Given the description of an element on the screen output the (x, y) to click on. 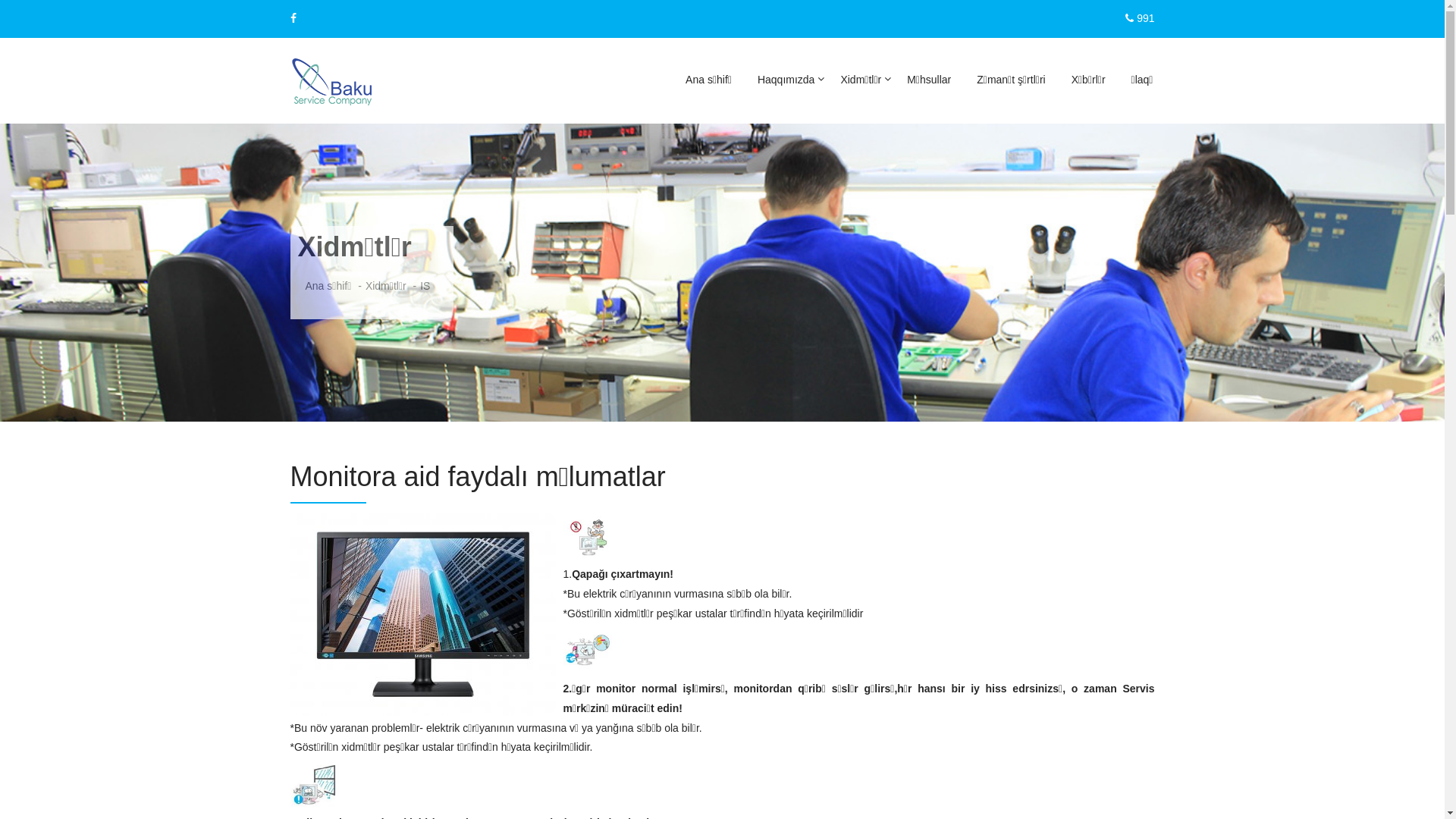
IS Element type: text (424, 286)
